Given the description of an element on the screen output the (x, y) to click on. 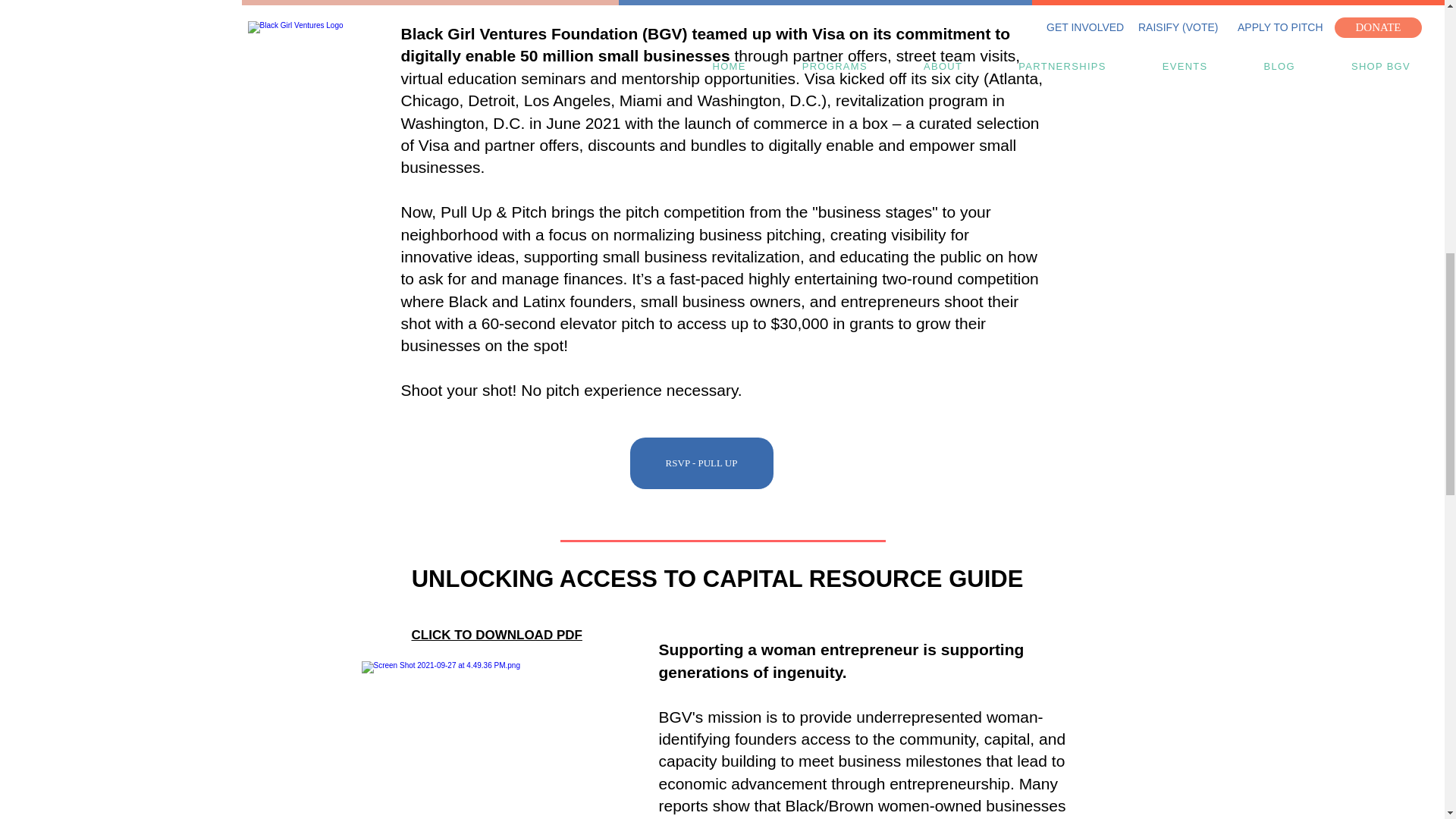
RSVP - PULL UP (700, 462)
CLICK TO DOWNLOAD PDF (495, 635)
